Given the description of an element on the screen output the (x, y) to click on. 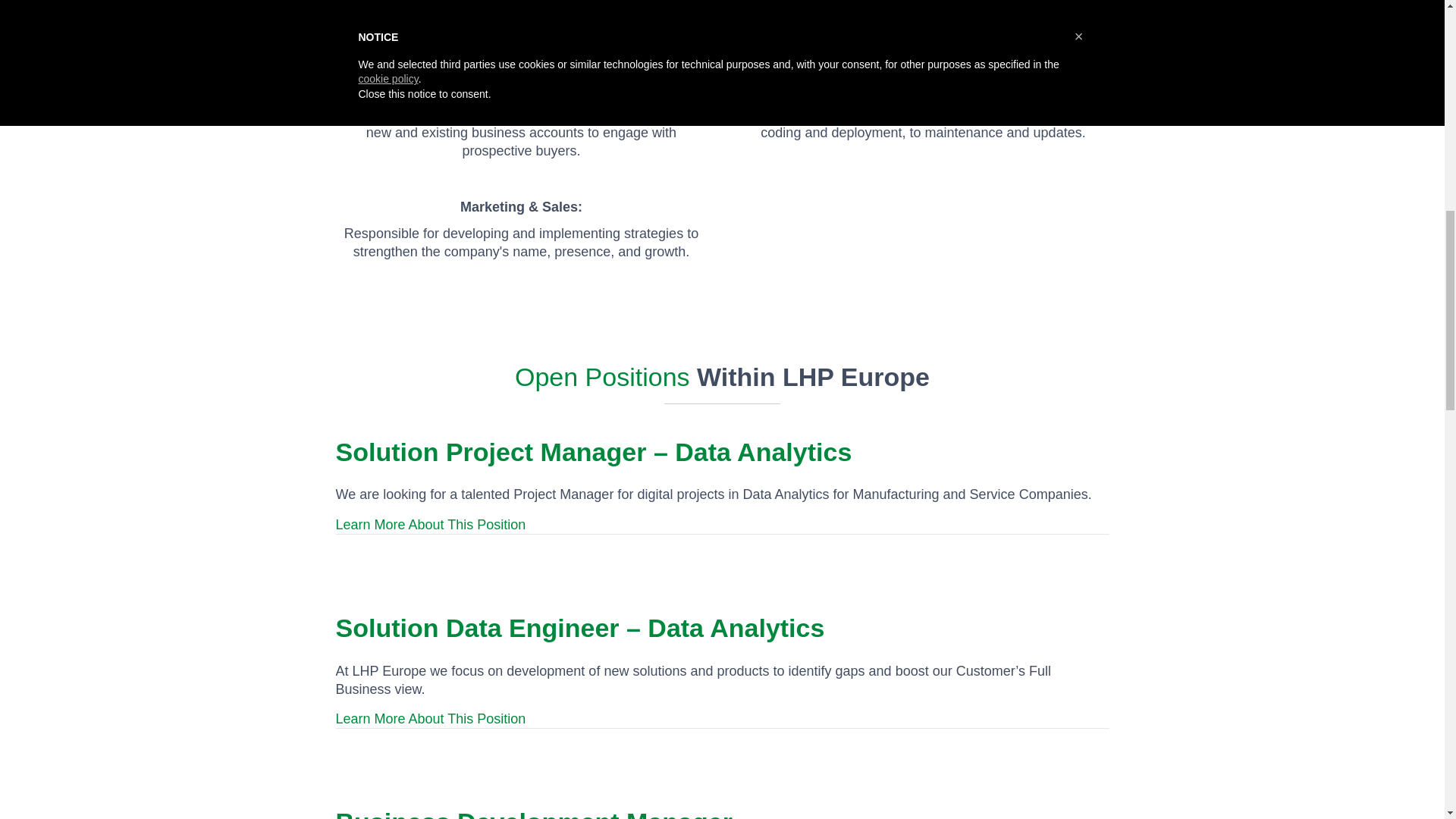
Learn More About This Position (429, 524)
Learn More About This Position (429, 719)
Business Development Manager (533, 813)
Business Development Manager (533, 813)
